Given the description of an element on the screen output the (x, y) to click on. 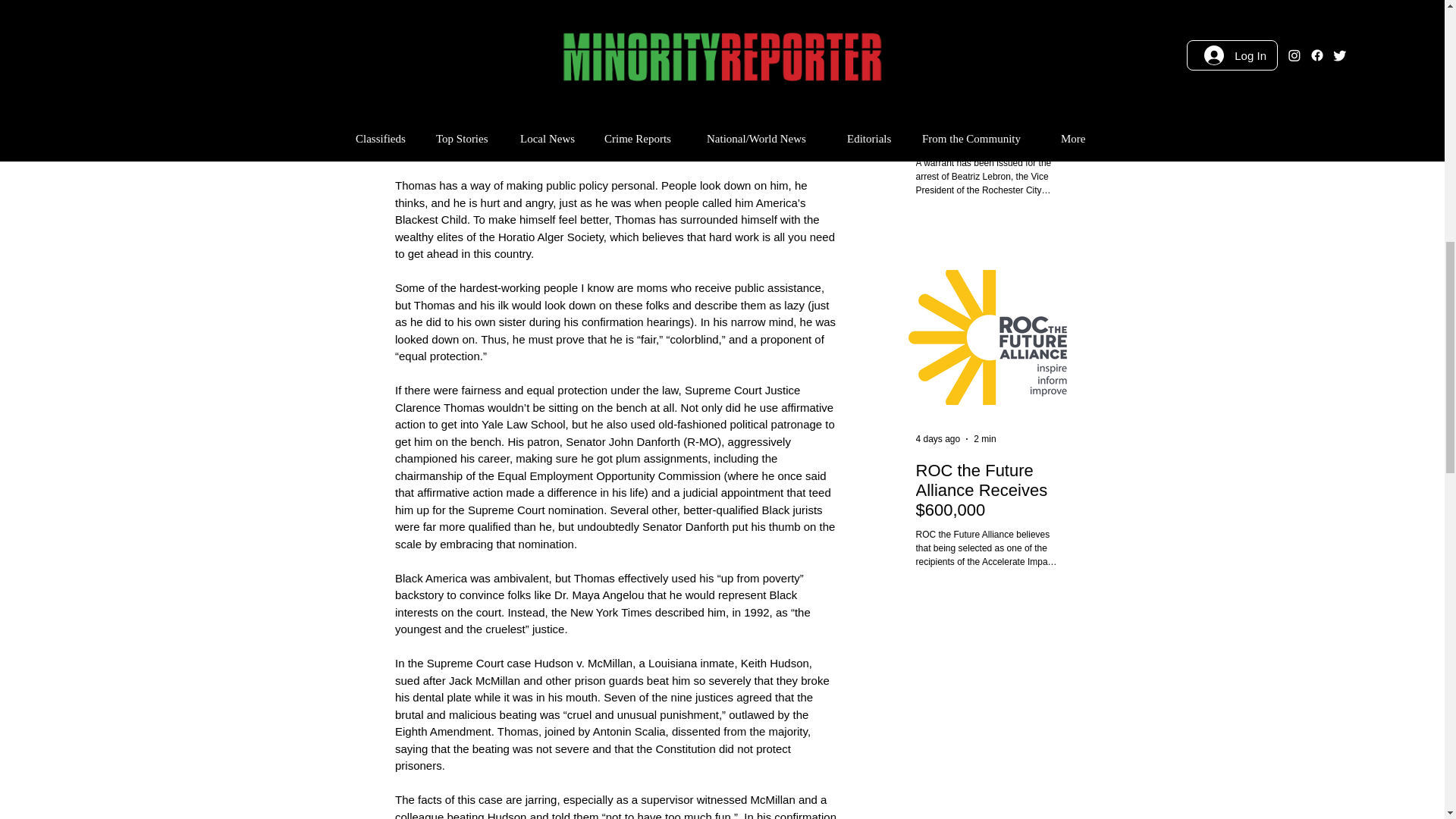
4 days ago (937, 439)
3 days ago (937, 67)
1 min (984, 67)
2 min (984, 439)
